Given the description of an element on the screen output the (x, y) to click on. 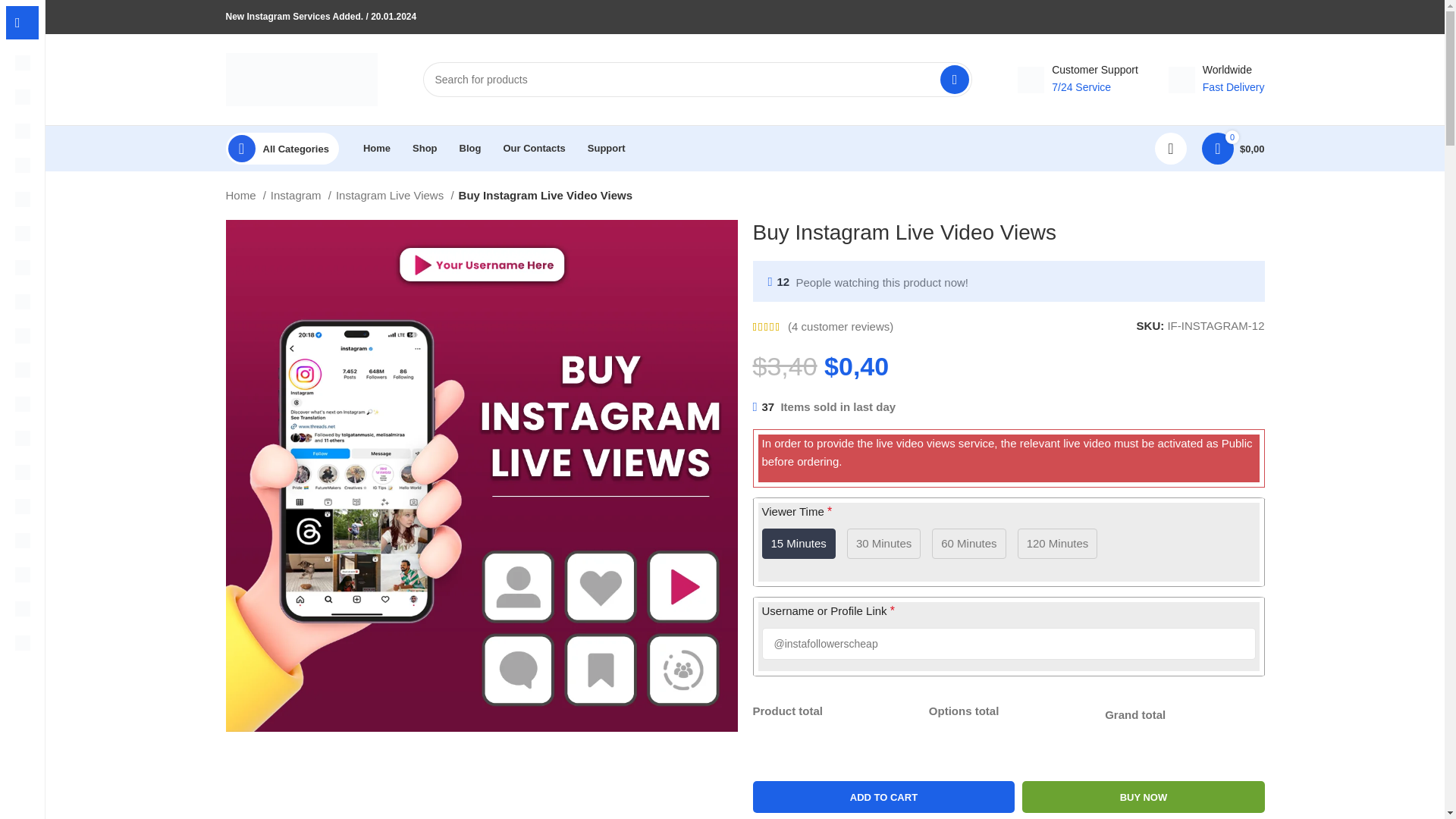
My account (1170, 148)
required (829, 511)
Search for products (697, 79)
Shopping cart (1232, 148)
required (892, 610)
